Given the description of an element on the screen output the (x, y) to click on. 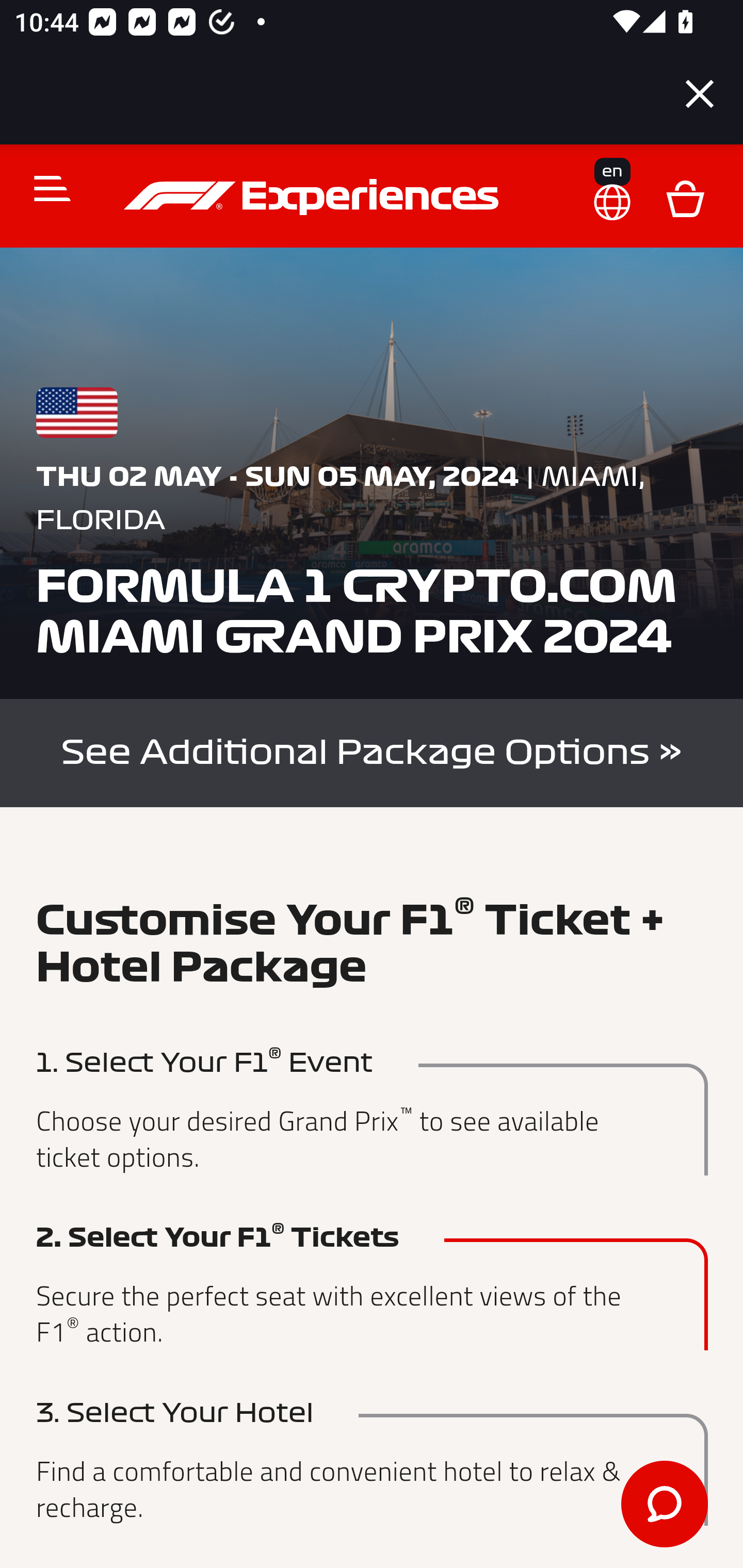
Close (699, 93)
Toggle navigation C (43, 188)
D (684, 197)
f1experiences (313, 197)
See Additional Package Options » (371, 752)
